Given the description of an element on the screen output the (x, y) to click on. 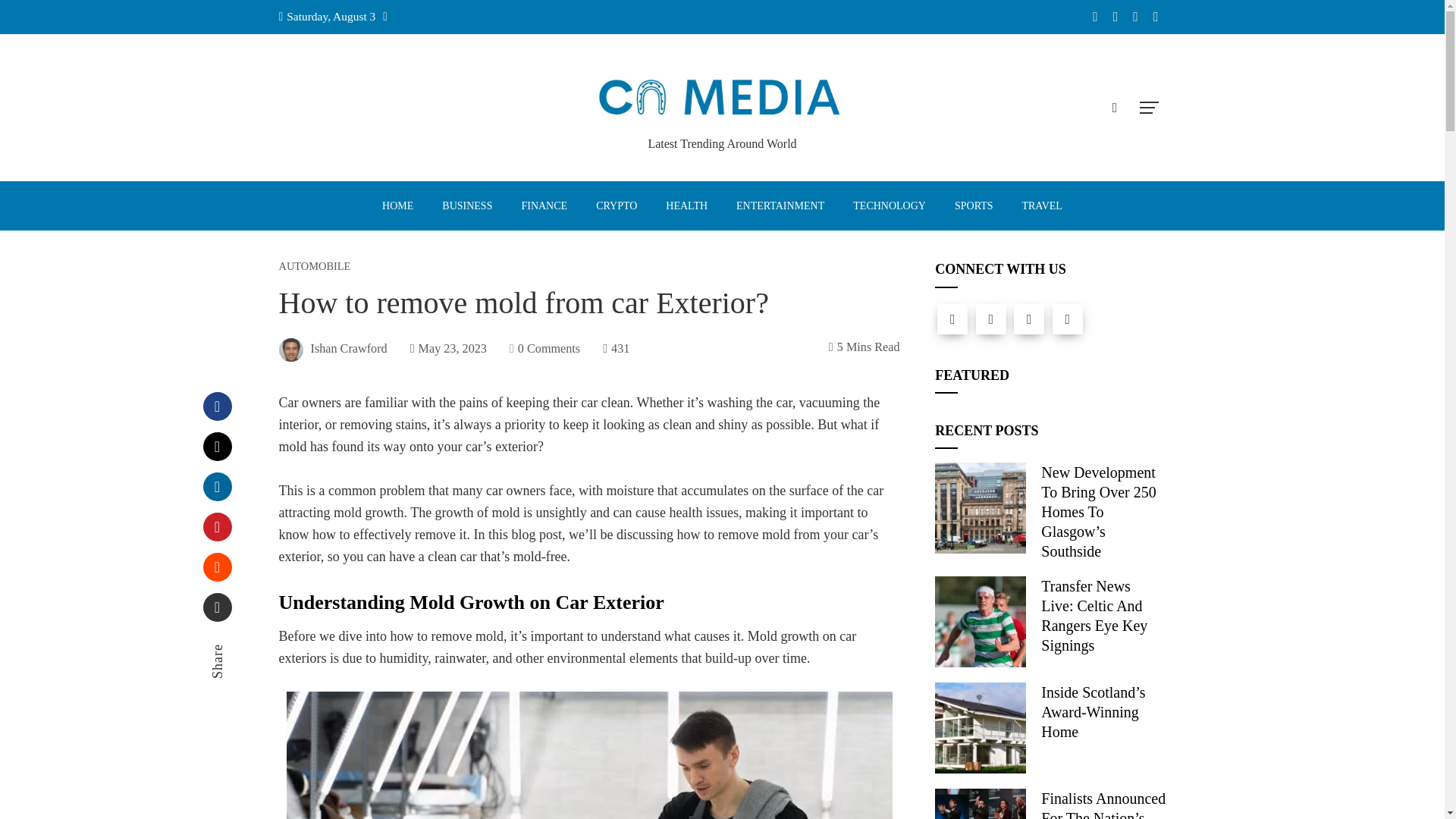
Pinterest (217, 526)
Twitter (217, 446)
TECHNOLOGY (889, 205)
TRAVEL (1041, 205)
SPORTS (974, 205)
Facebook (952, 318)
HEALTH (686, 205)
BUSINESS (466, 205)
HOME (397, 205)
Facebook (217, 406)
